Given the description of an element on the screen output the (x, y) to click on. 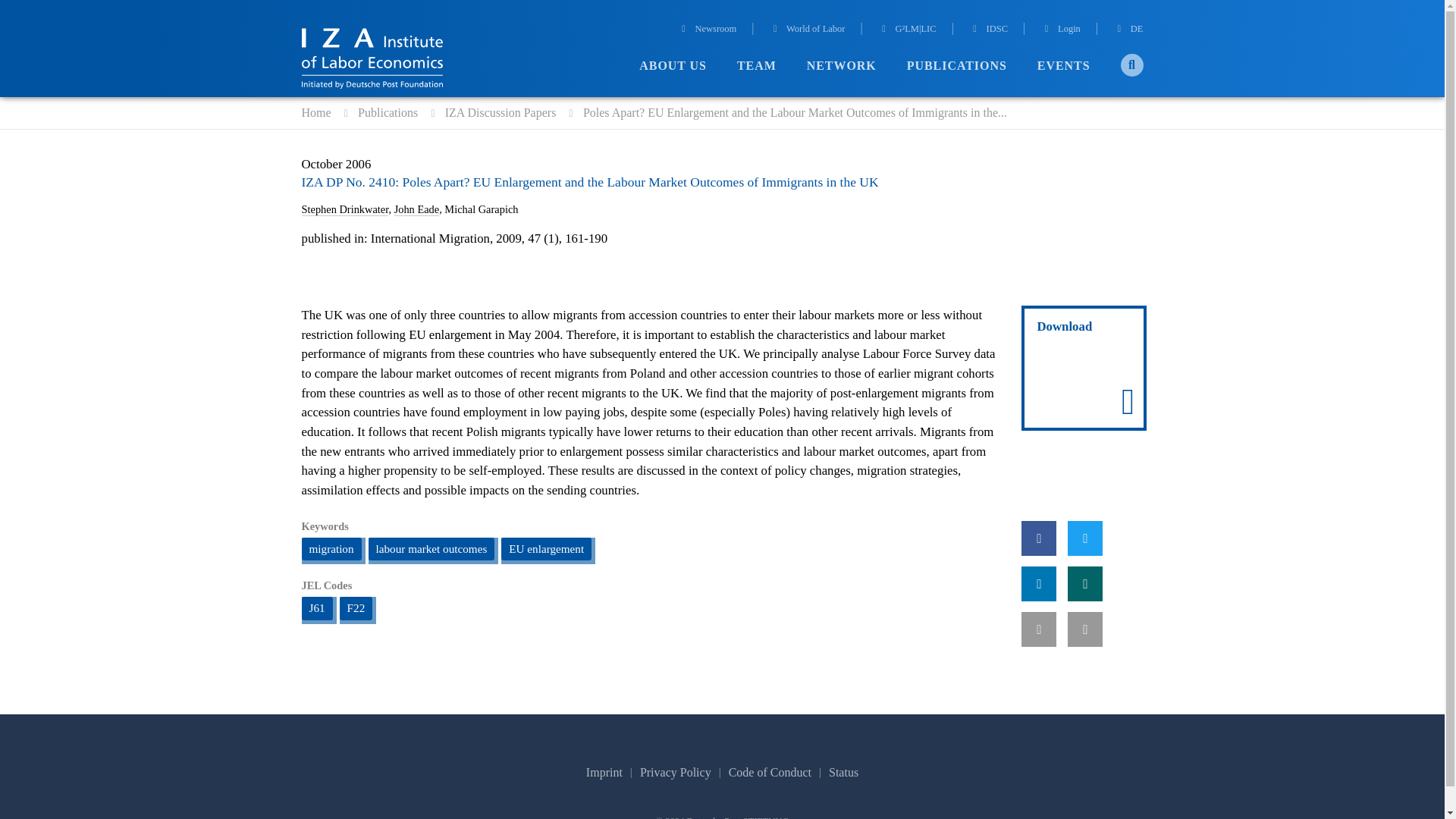
EVENTS (1063, 66)
NETWORK (841, 66)
ABOUT US (672, 66)
DE (1127, 30)
PUBLICATIONS (957, 66)
IDSC (988, 30)
TEAM (756, 66)
Newsroom (707, 30)
World of Labor (807, 30)
Login (1060, 30)
